Given the description of an element on the screen output the (x, y) to click on. 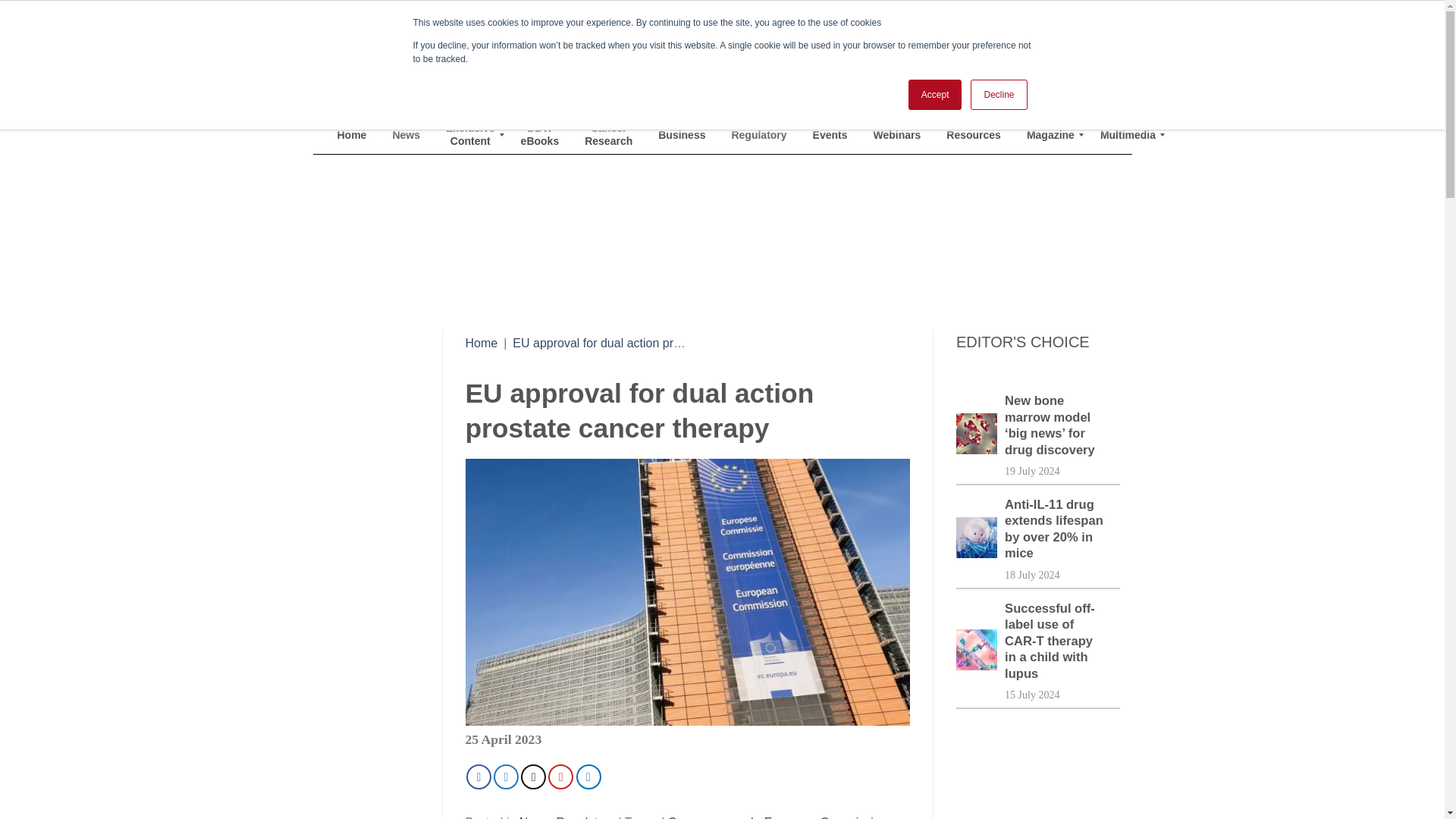
Events (829, 134)
Media Info (1023, 83)
Accept (935, 94)
DDW eBooks (540, 134)
Regulatory (758, 134)
Contact Us (1092, 83)
Home (481, 342)
Cancer Research (608, 134)
Decline (998, 94)
EU approval for dual action prostate cancer therapy (651, 342)
Exclusive Content (470, 134)
Home (352, 134)
Multimedia (1128, 134)
Webinars (897, 134)
Resources (973, 134)
